Given the description of an element on the screen output the (x, y) to click on. 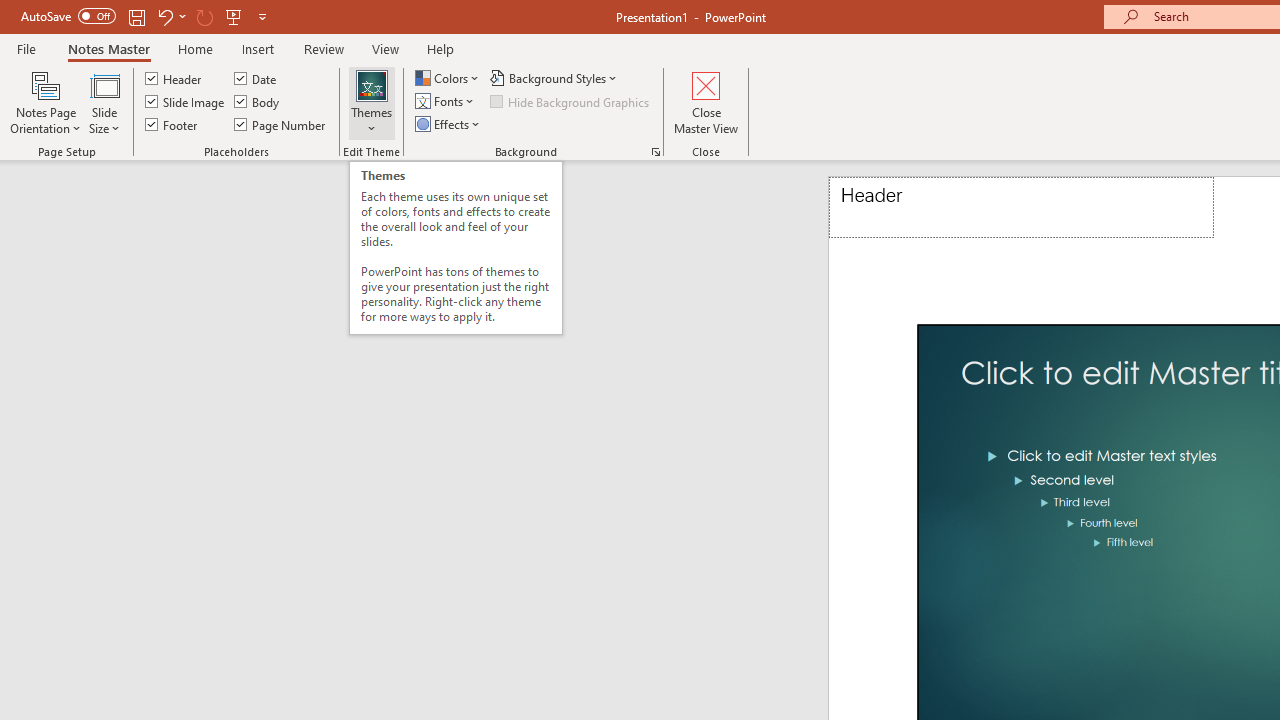
Colors (449, 78)
Slide Size (104, 102)
Format Background... (655, 151)
